Given the description of an element on the screen output the (x, y) to click on. 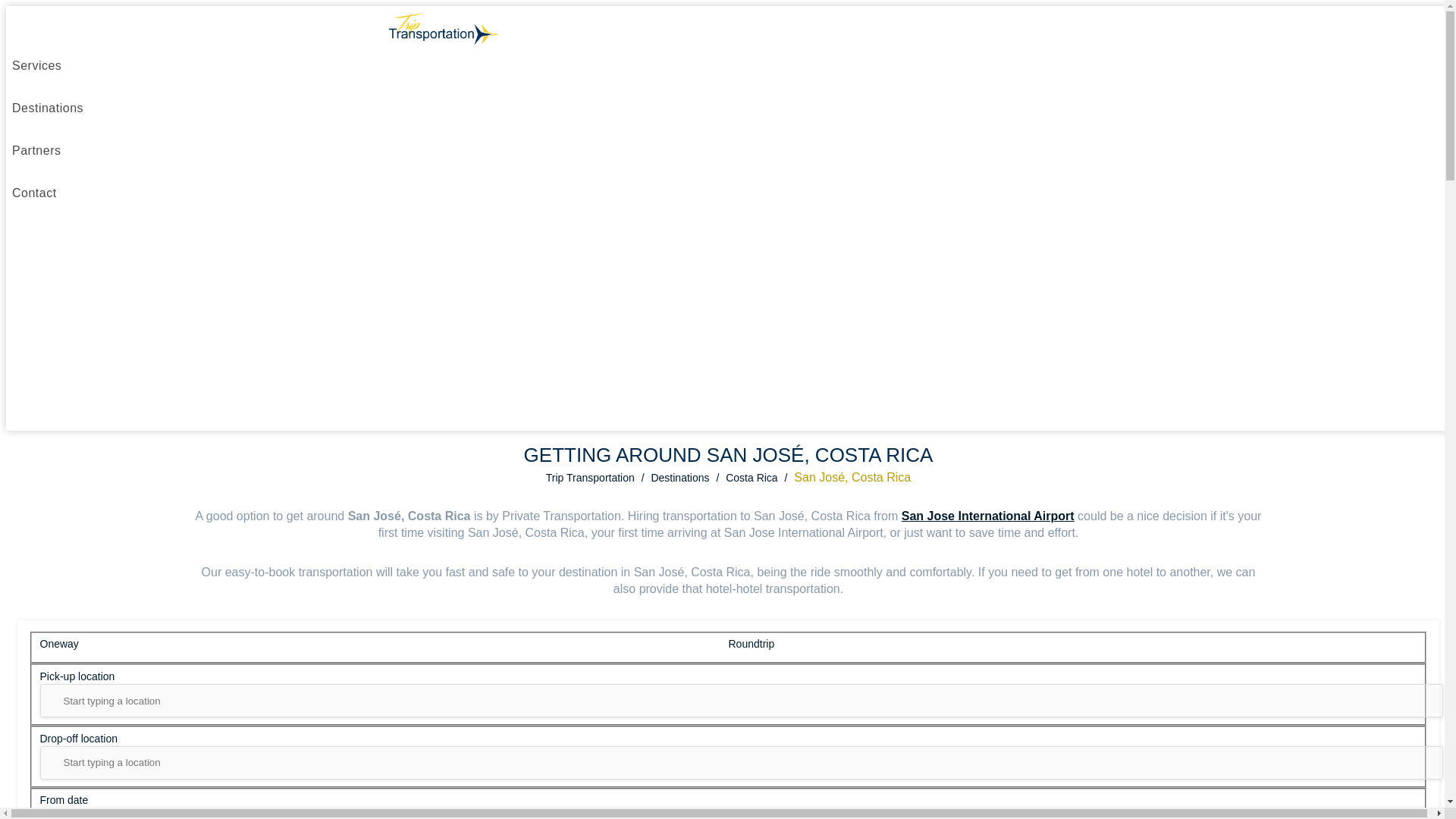
Destinations (46, 107)
Contact Trip Transportation (33, 192)
Costa Rica (751, 477)
Contact (33, 192)
Book a roundtrip transportation (1072, 645)
San Jose International Airport (987, 515)
Trip Transportation (590, 477)
Trip Transportation Services (36, 65)
Partners (36, 150)
Available Destinations (46, 107)
Services (36, 65)
Partner with Trip Transportation (36, 150)
Book a oneway transportation (383, 645)
Destinations (679, 477)
